Given the description of an element on the screen output the (x, y) to click on. 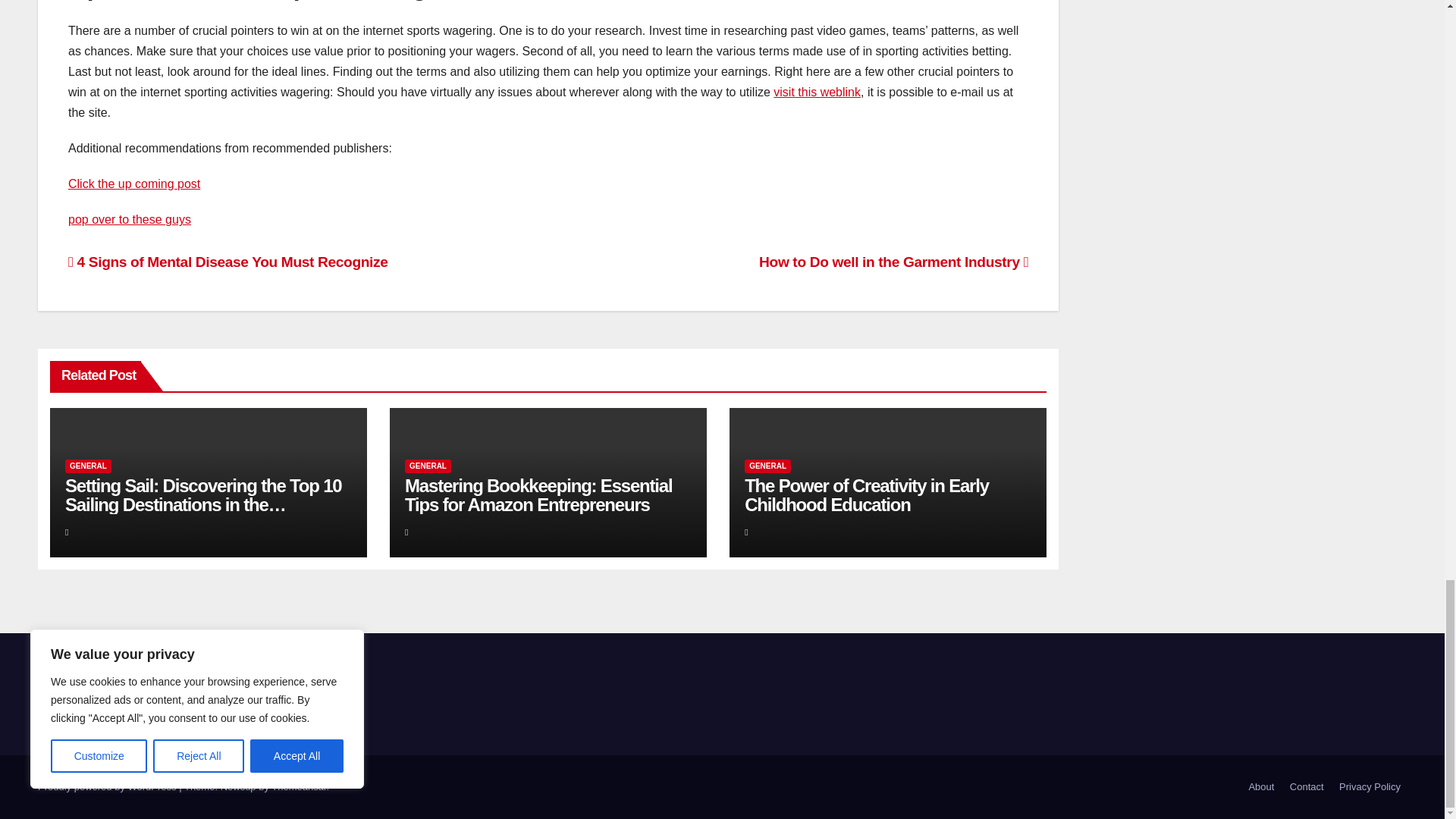
pop over to these guys (129, 219)
visit this weblink (816, 91)
Privacy Policy (1369, 786)
About (1260, 786)
GENERAL (427, 466)
GENERAL (88, 466)
Contact (1307, 786)
4 Signs of Mental Disease You Must Recognize (228, 261)
Click the up coming post (134, 183)
How to Do well in the Garment Industry (892, 261)
The Power of Creativity in Early Childhood Education (866, 495)
GENERAL (767, 466)
